Given the description of an element on the screen output the (x, y) to click on. 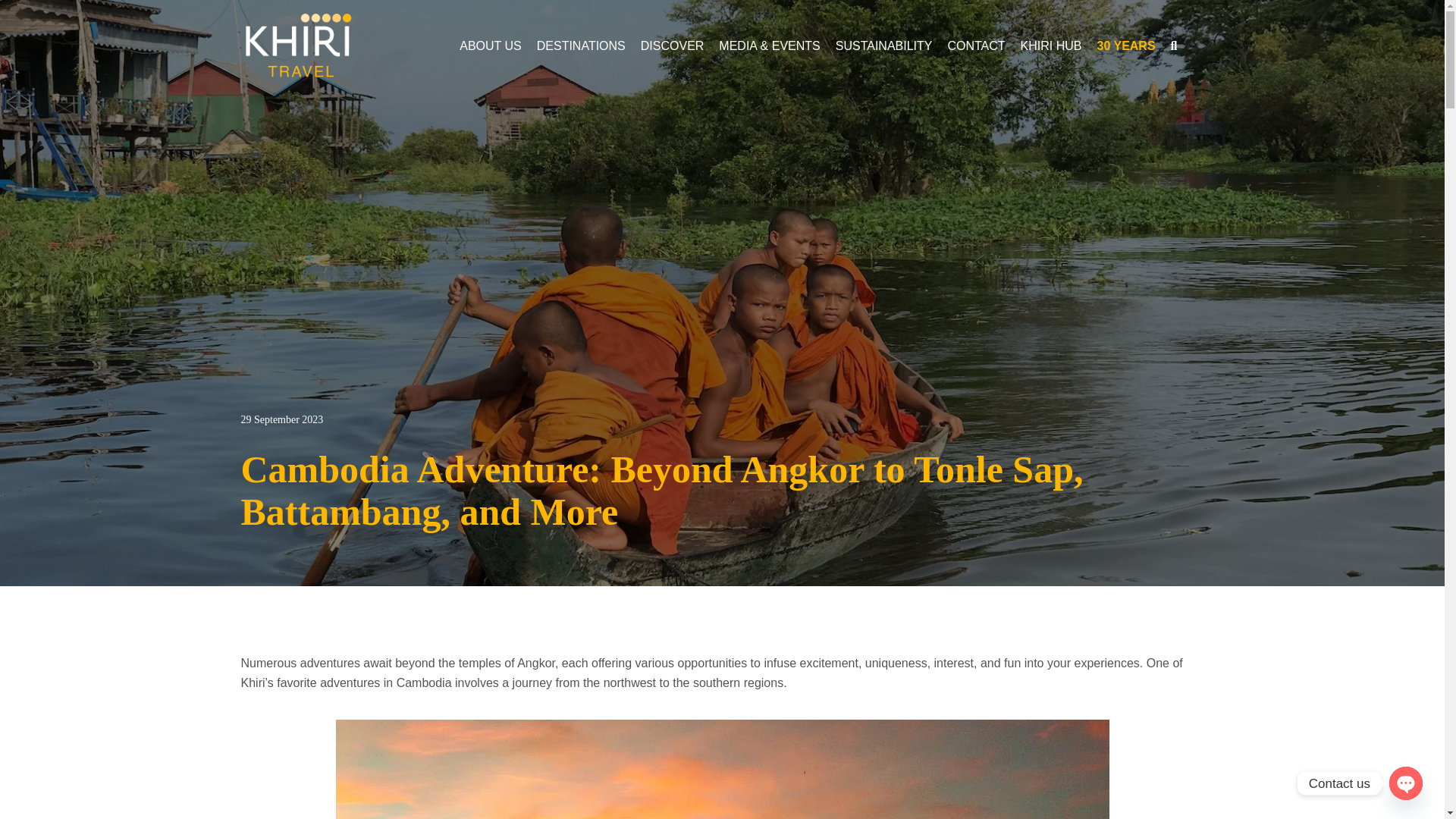
DESTINATIONS (581, 46)
CONTACT (975, 46)
DISCOVER (672, 46)
ABOUT US (490, 46)
SUSTAINABILITY (884, 46)
